Given the description of an element on the screen output the (x, y) to click on. 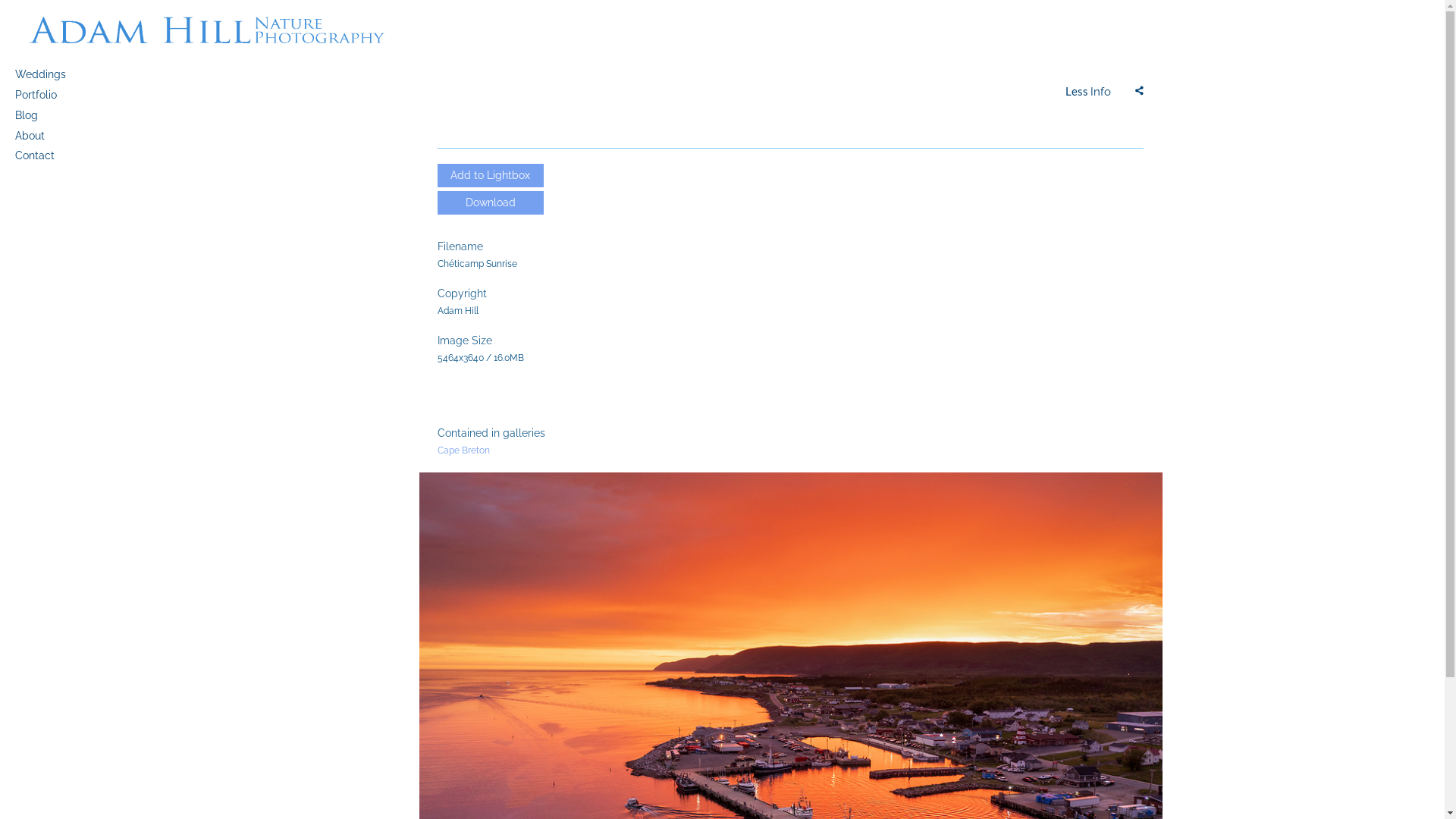
About Element type: text (75, 135)
Portfolio Element type: text (75, 94)
Contact Element type: text (75, 155)
Adam Hill Photo Element type: text (204, 30)
Blog Element type: text (75, 115)
Weddings Element type: text (75, 74)
Cape Breton Element type: text (462, 450)
Info Element type: text (1088, 90)
Download Element type: text (489, 202)
x Element type: text (1138, 90)
Add to Lightbox Element type: text (489, 175)
